Given the description of an element on the screen output the (x, y) to click on. 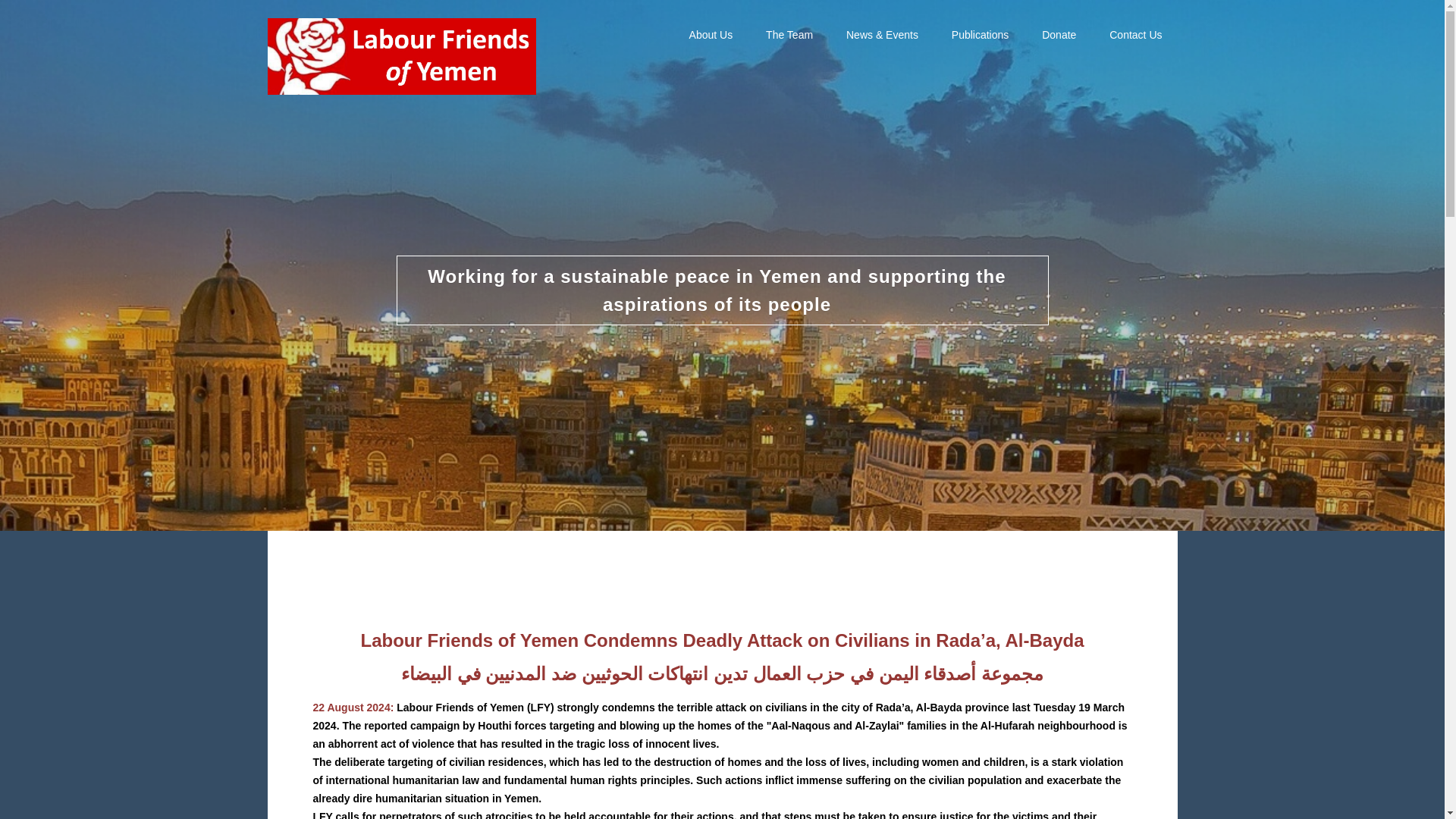
Contact Us (1135, 34)
About Us (711, 34)
Donate (1058, 34)
Publications (980, 34)
The Team (789, 34)
